Given the description of an element on the screen output the (x, y) to click on. 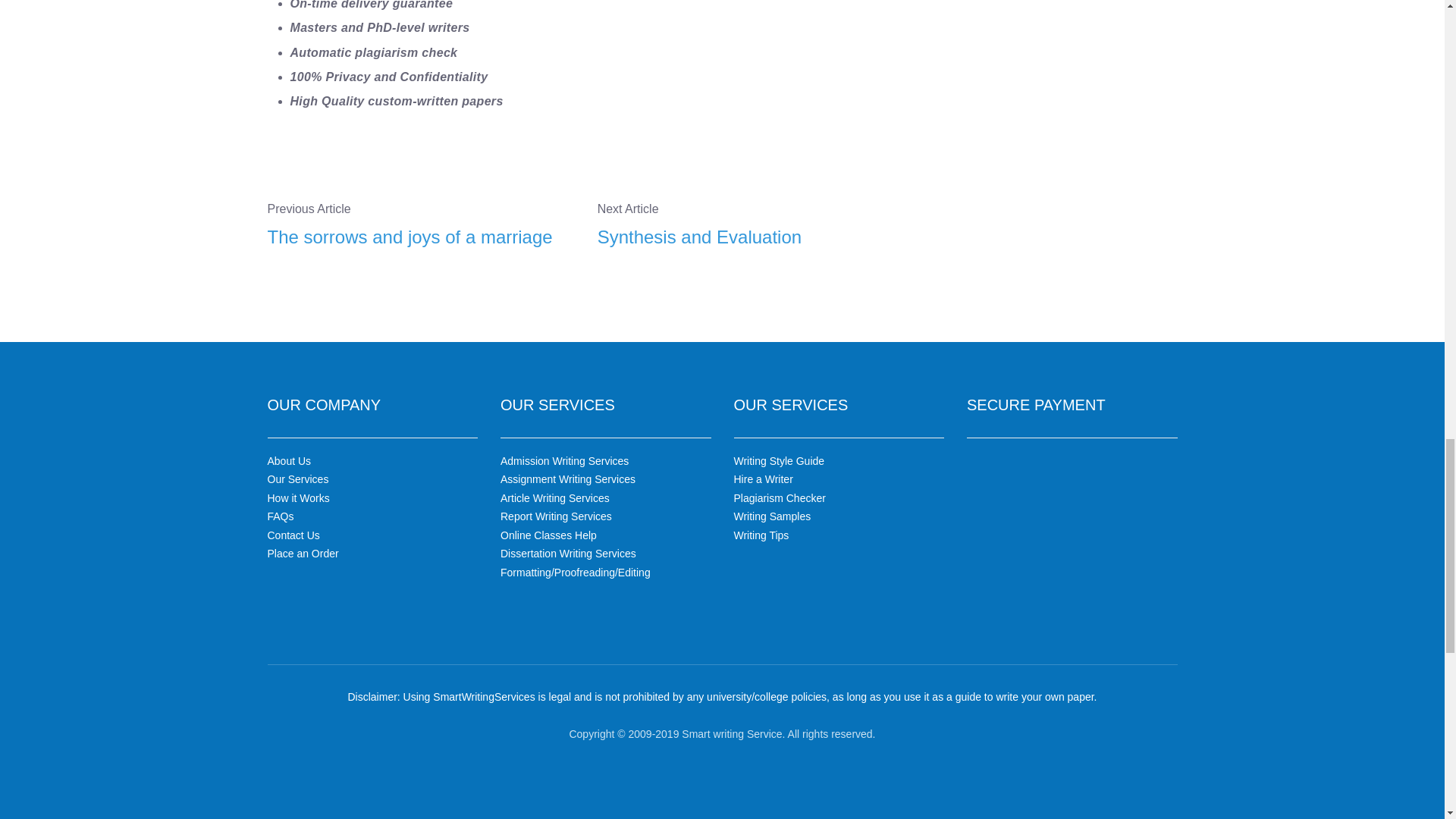
Assignment Writing Services (567, 479)
About Us (288, 460)
Hire a Writer (763, 479)
Contact Us (292, 535)
SECURE PAYMENT (1035, 404)
FAQs (280, 516)
OUR COMPANY (323, 404)
Writing Style Guide (779, 460)
Online Classes Help (548, 535)
Our Services (297, 479)
The sorrows and joys of a marriage (419, 236)
Admission Writing Services (564, 460)
OUR SERVICES (557, 404)
Dissertation Writing Services (568, 553)
Place an Order (301, 553)
